Given the description of an element on the screen output the (x, y) to click on. 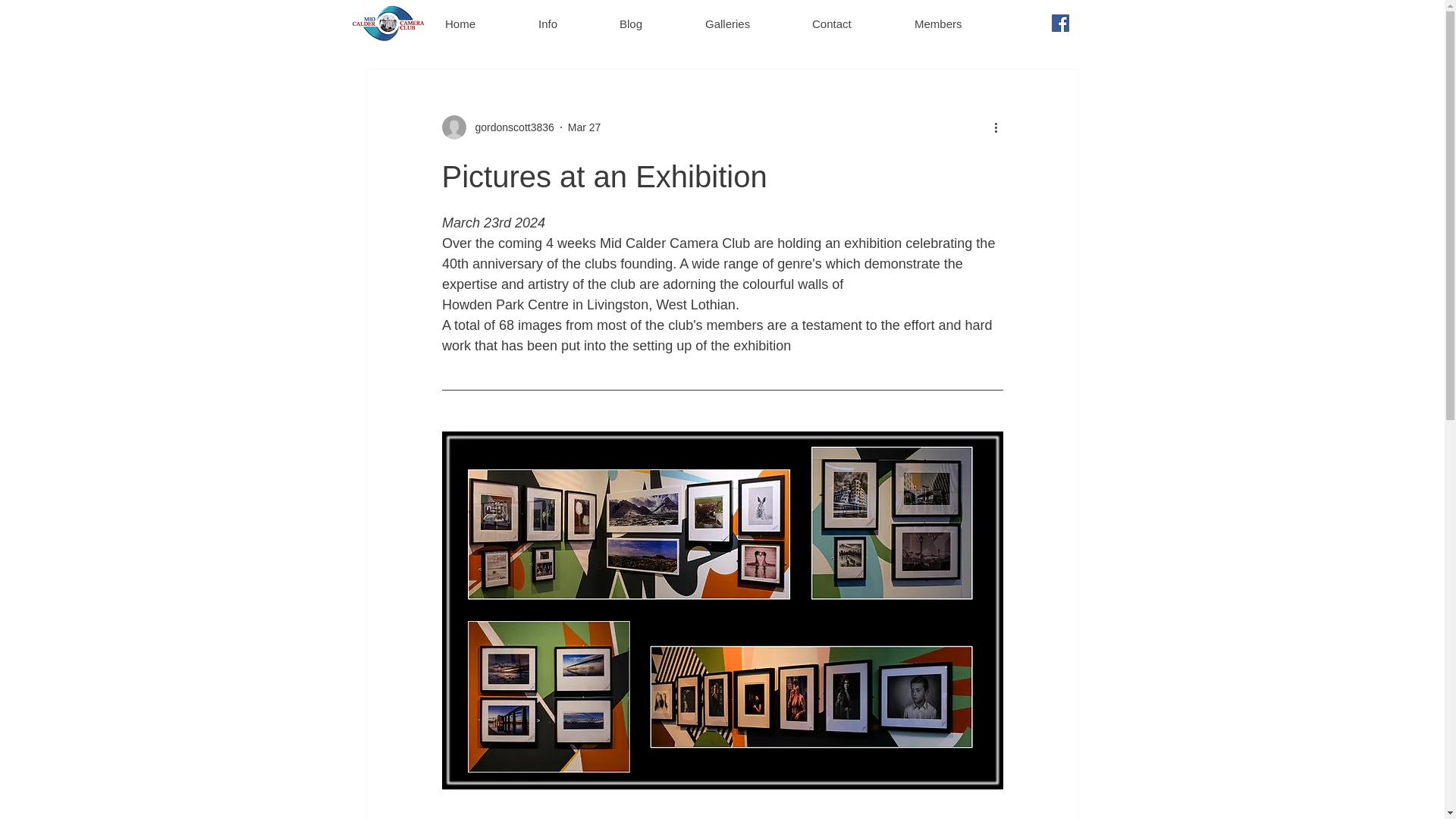
Galleries (746, 23)
Mar 27 (584, 127)
Contact (850, 23)
Home (479, 23)
Members (956, 23)
Blog (650, 23)
gordonscott3836 (509, 127)
